Given the description of an element on the screen output the (x, y) to click on. 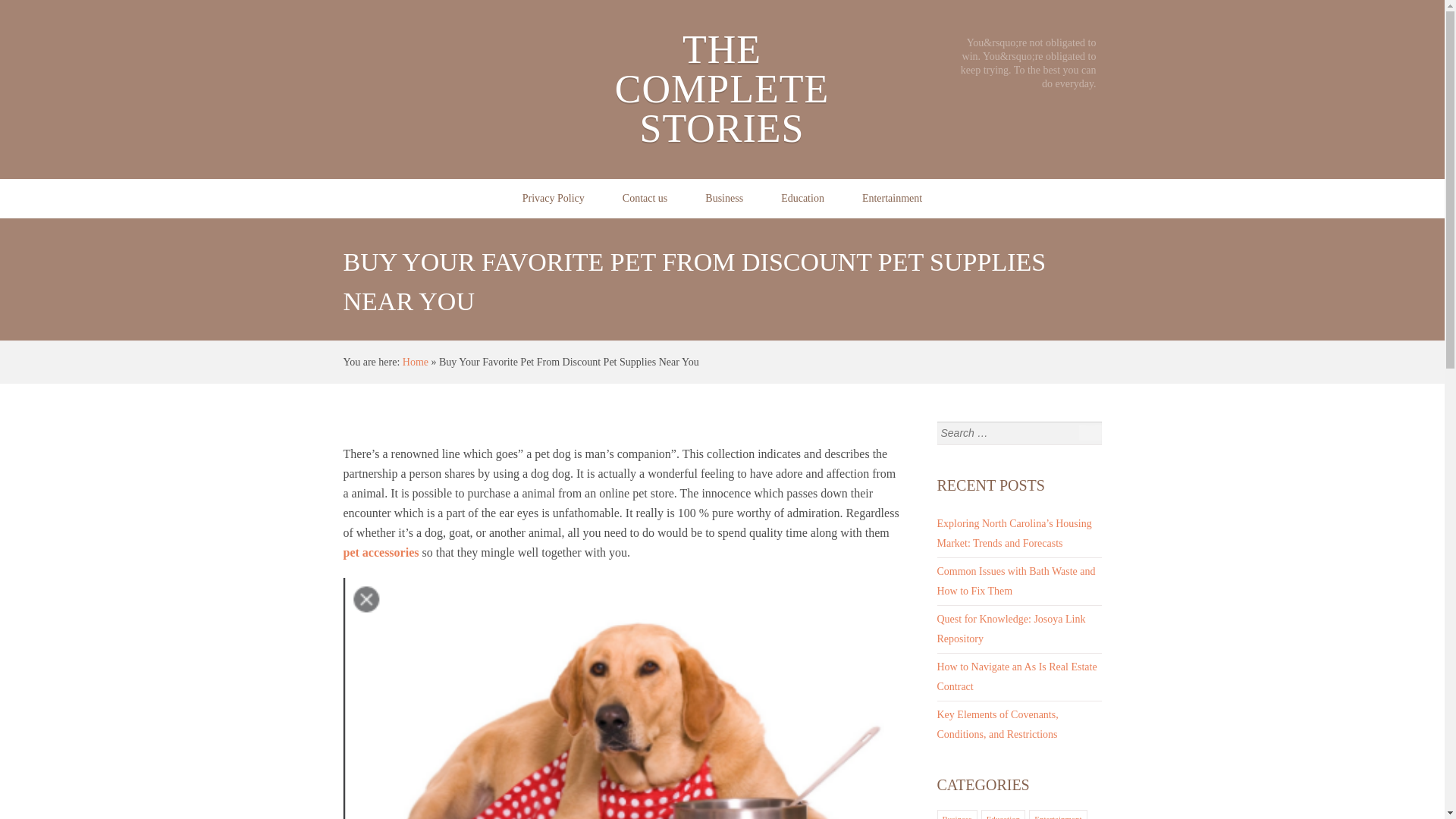
Business (956, 816)
Contact us (645, 198)
Search (1089, 432)
Entertainment (891, 198)
Search (1089, 432)
Quest for Knowledge: Josoya Link Repository (1011, 628)
Home (415, 361)
How to Navigate an As Is Real Estate Contract (1017, 676)
Business (723, 198)
Education (1003, 816)
Common Issues with Bath Waste and How to Fix Them (1016, 581)
Entertainment (1057, 816)
The Complete Stories (415, 361)
Education (802, 198)
Privacy Policy (553, 198)
